Given the description of an element on the screen output the (x, y) to click on. 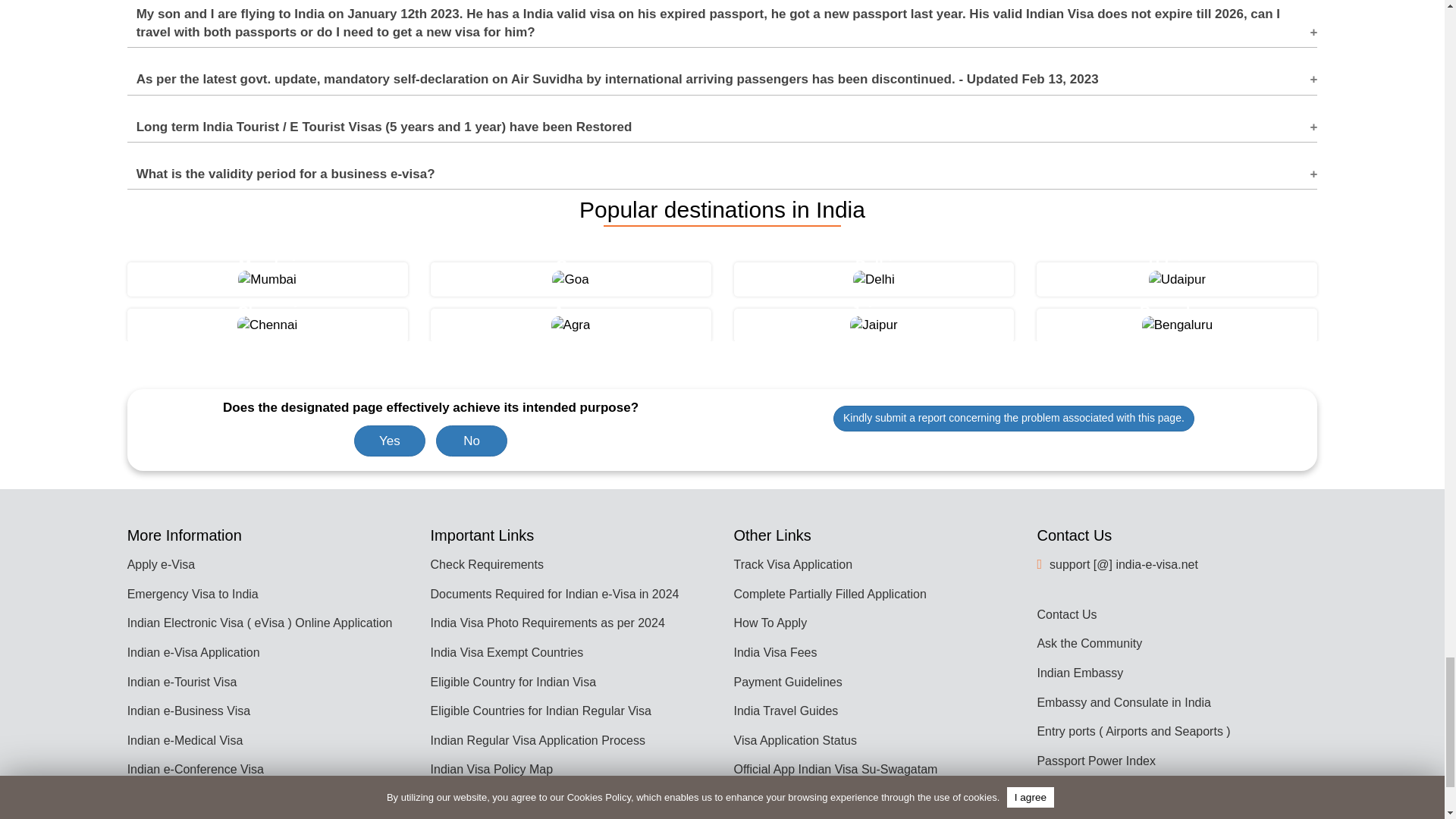
What is the validity period for a business e-visa? (722, 169)
Yes (389, 440)
No (470, 440)
Mumbai (266, 280)
